Given the description of an element on the screen output the (x, y) to click on. 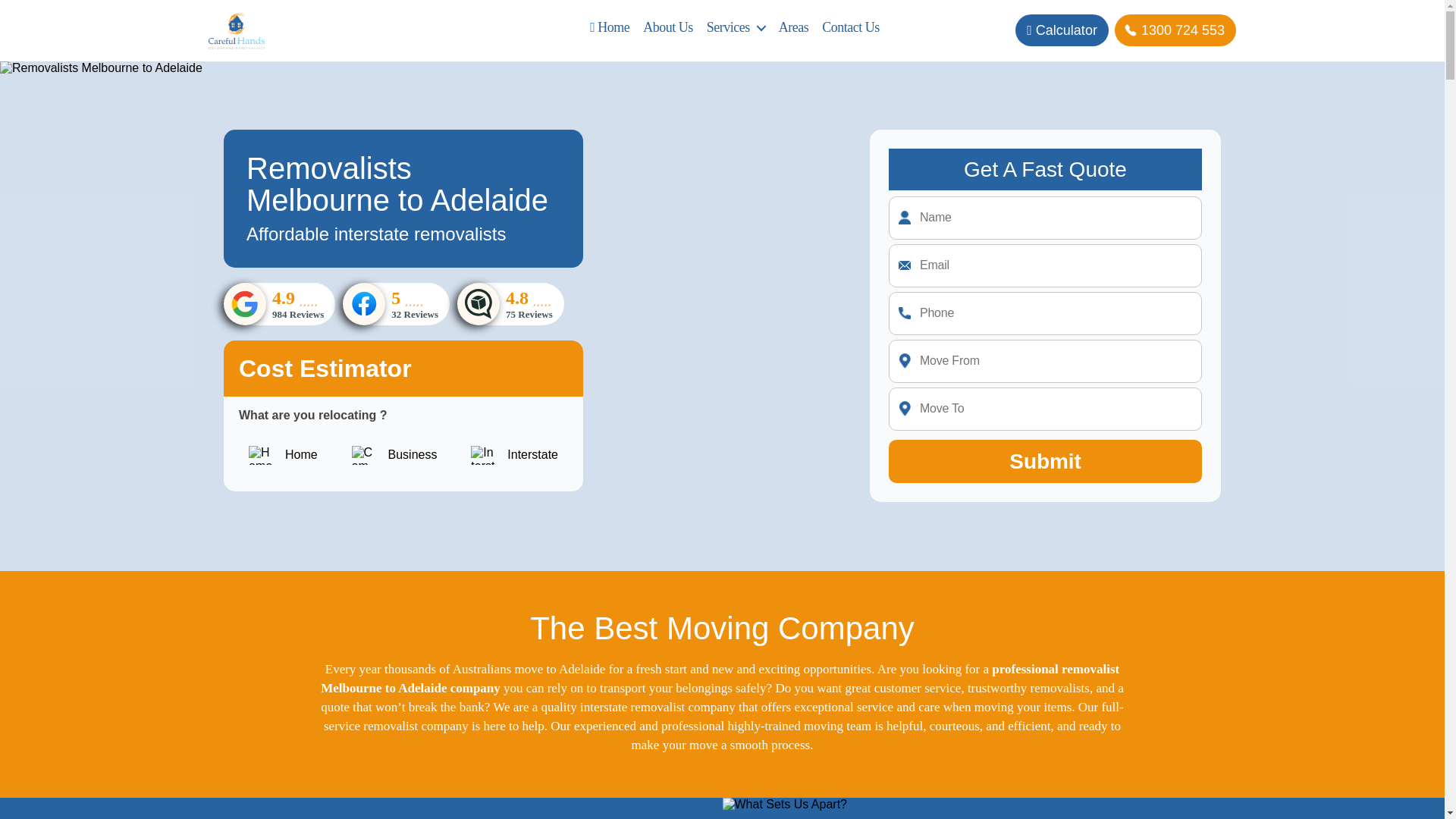
1300 724 553 (1175, 29)
Contact Us (850, 27)
About Us (668, 27)
Calculator (1061, 29)
Services (735, 27)
Areas (402, 454)
Home (793, 27)
Submit (608, 27)
